Given the description of an element on the screen output the (x, y) to click on. 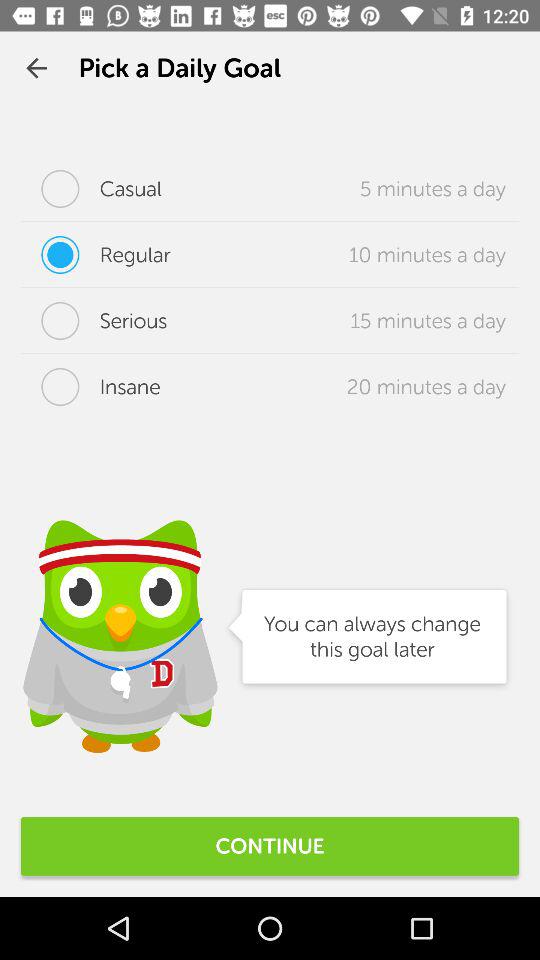
flip until insane (90, 387)
